Given the description of an element on the screen output the (x, y) to click on. 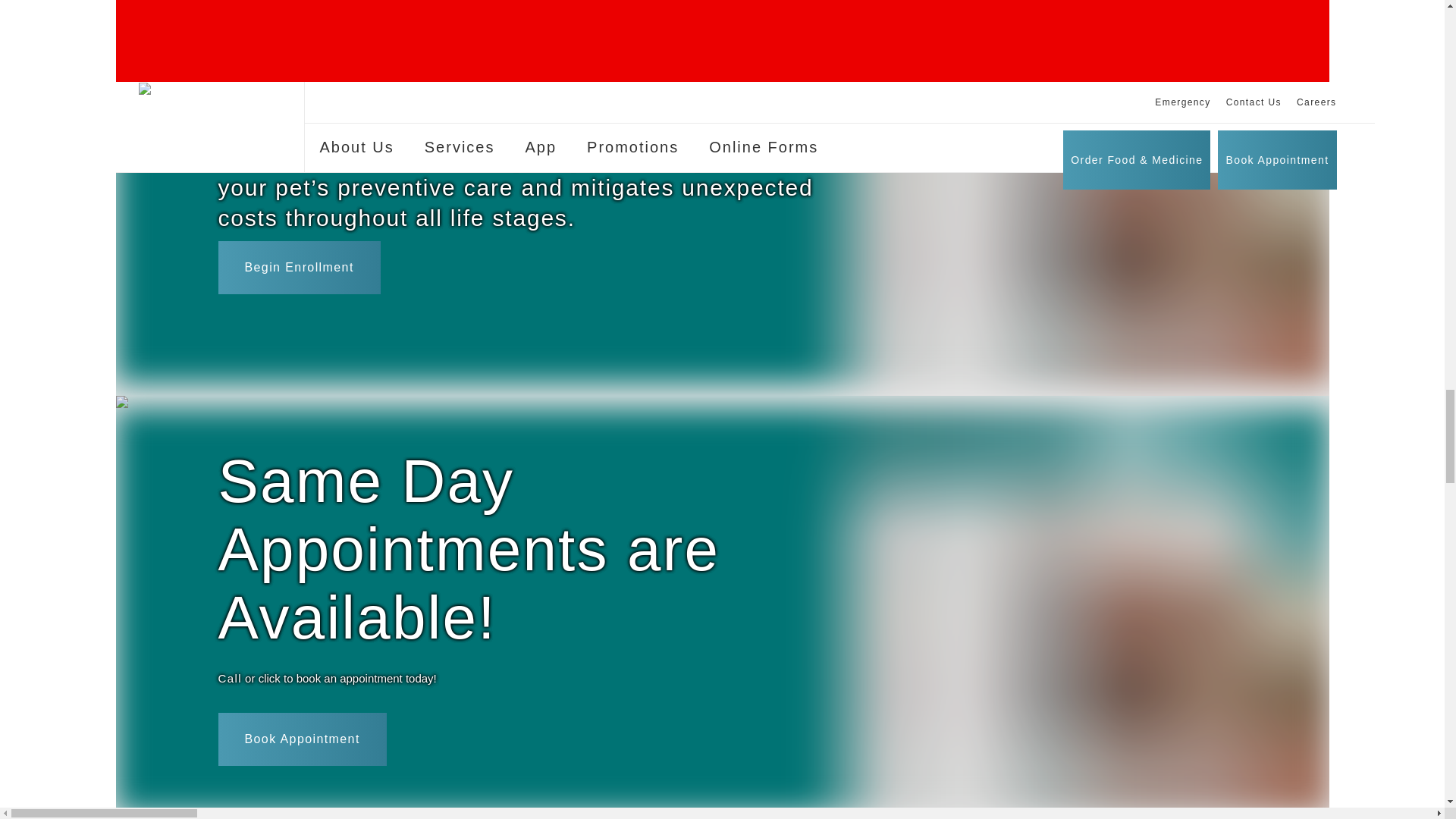
Call (229, 707)
Begin Enrollment (299, 296)
Book Appointment (302, 768)
